Given the description of an element on the screen output the (x, y) to click on. 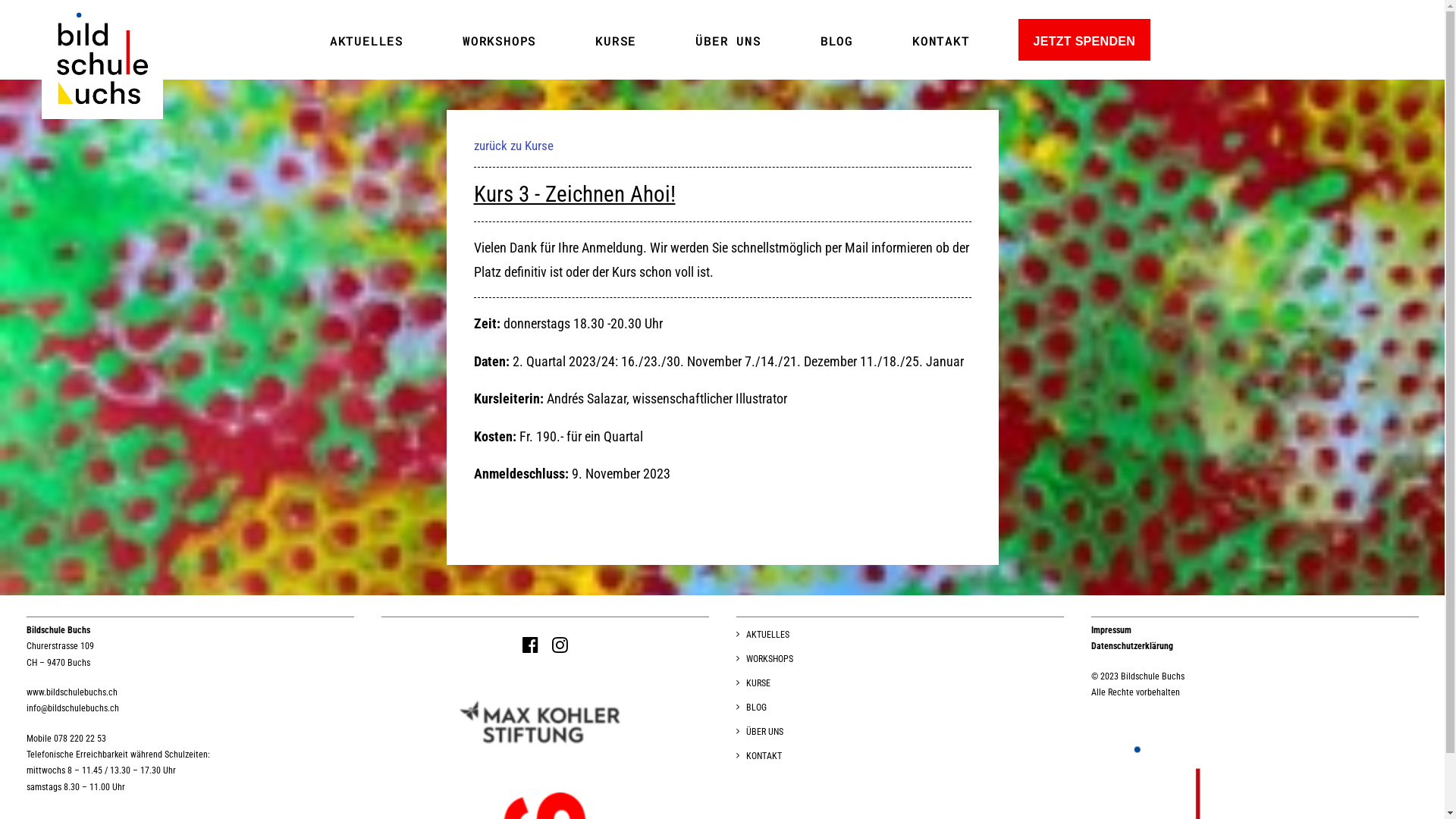
Impressum Element type: text (1110, 629)
AKTUELLES Element type: text (383, 39)
JETZT SPENDEN Element type: text (1084, 39)
BLOG Element type: text (853, 39)
BLOG Element type: text (750, 709)
KONTAKT Element type: text (758, 757)
WORKSHOPS Element type: text (763, 660)
KURSE Element type: text (752, 684)
AKTUELLES Element type: text (761, 636)
WORKSHOPS Element type: text (516, 39)
KONTAKT Element type: text (958, 39)
KURSE Element type: text (632, 39)
